Given the description of an element on the screen output the (x, y) to click on. 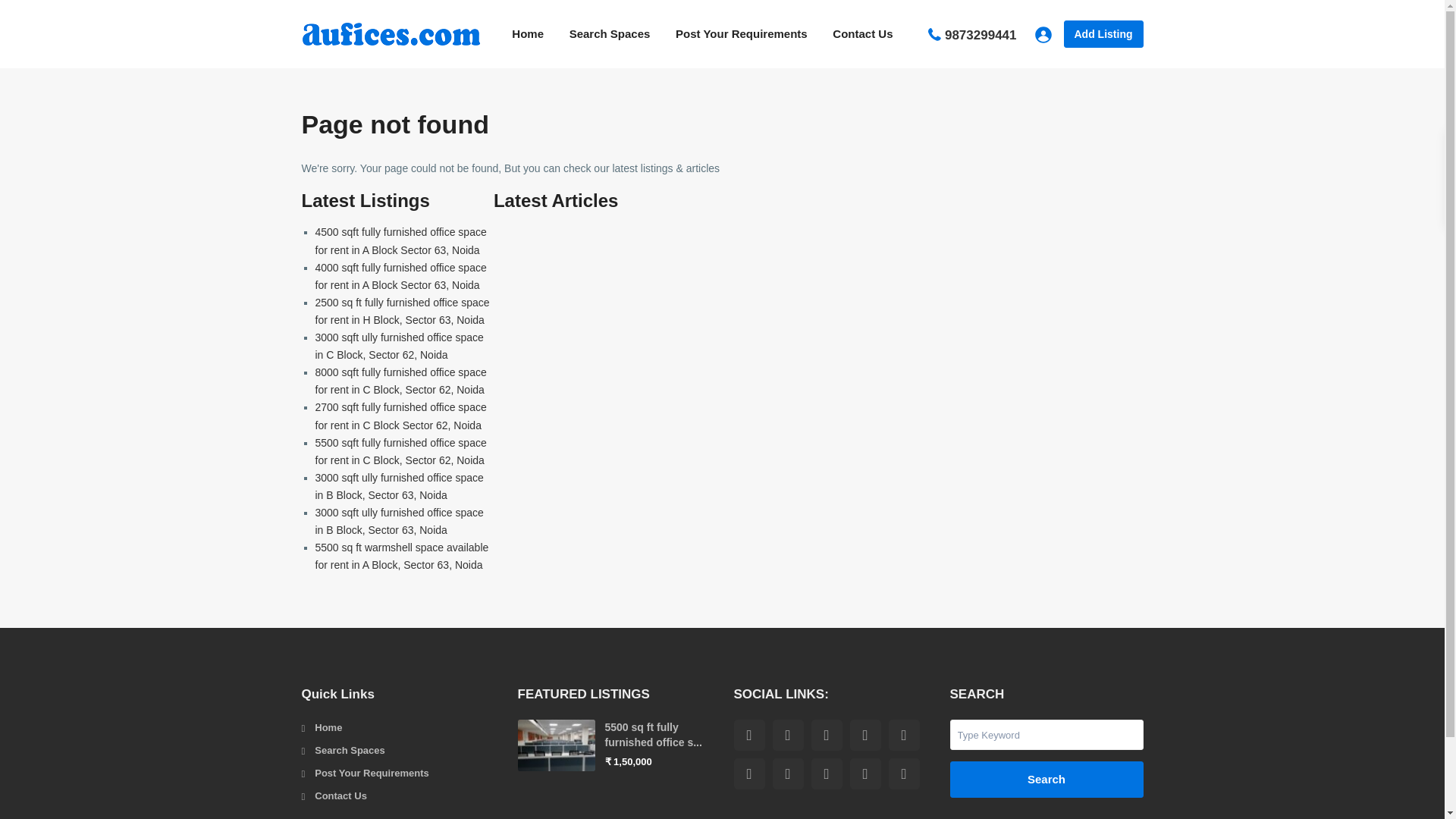
Contact Us (862, 33)
Post Your Requirements (740, 33)
9873299441 (980, 34)
Add Listing (1102, 33)
Search Spaces (609, 33)
